Given the description of an element on the screen output the (x, y) to click on. 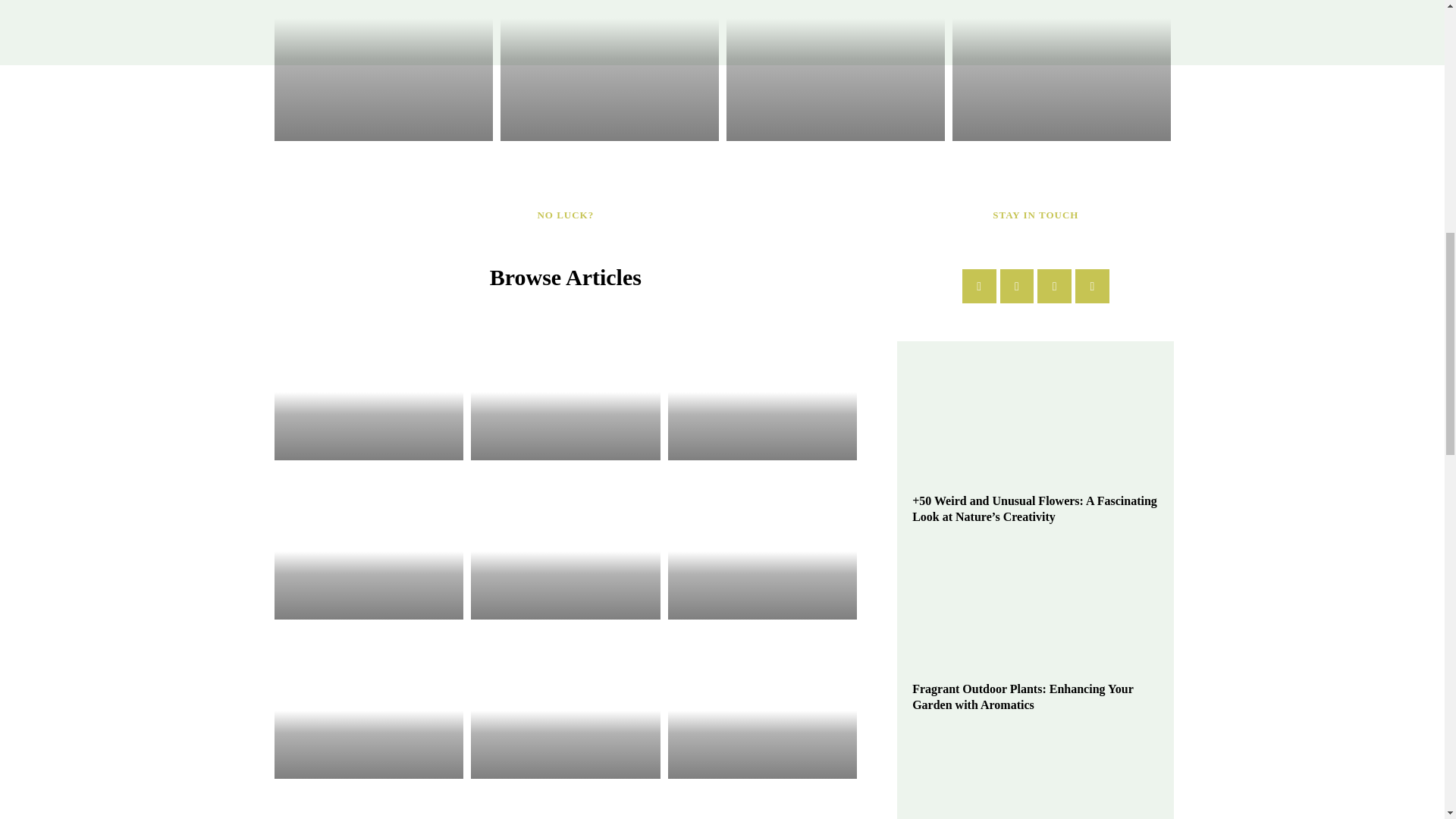
Edible Outdoor Plants: How to Grow Your Own Fresh Produce (835, 70)
